Given the description of an element on the screen output the (x, y) to click on. 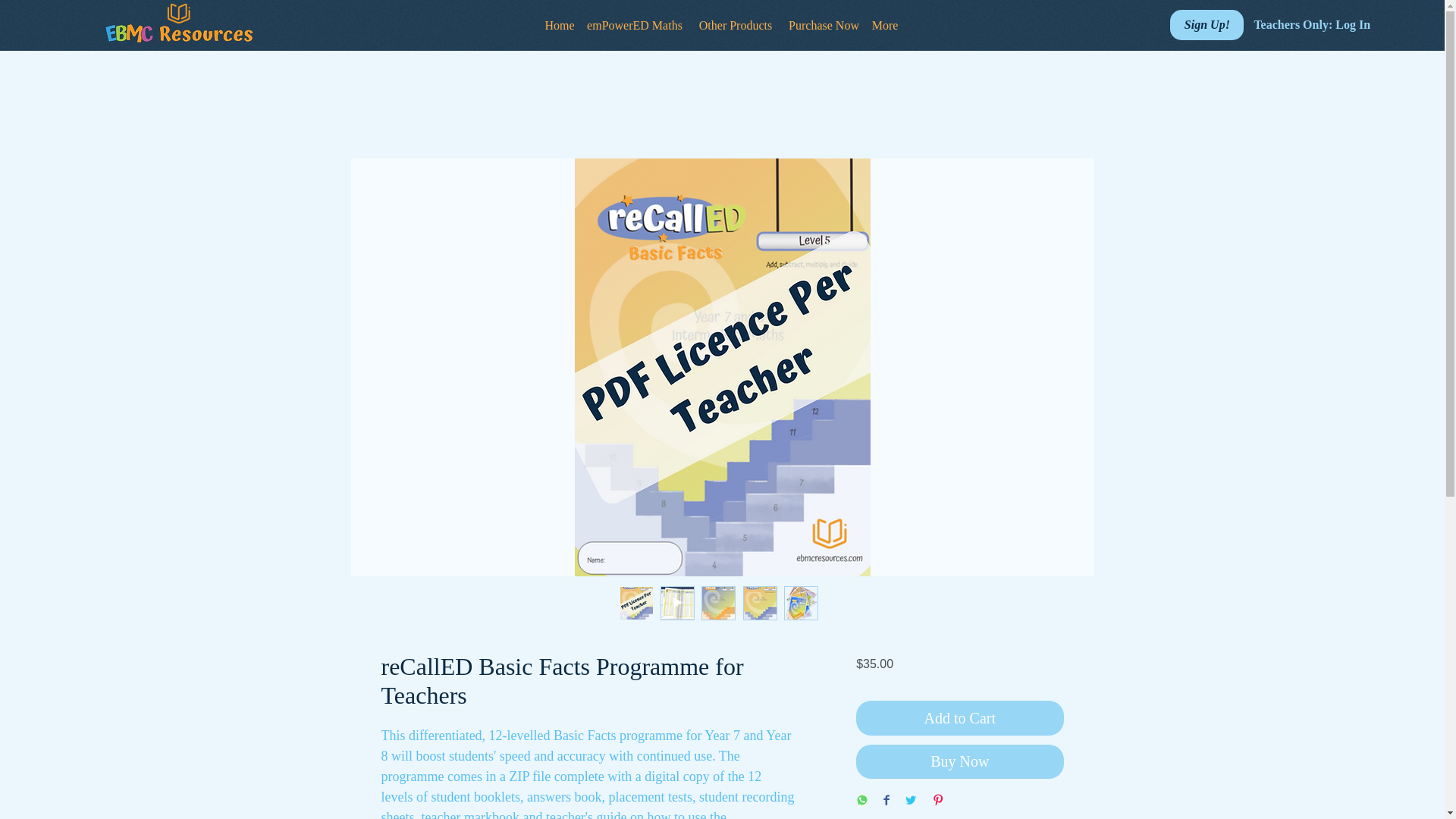
Teachers Only: Log In (1298, 24)
Sign Up! (1206, 24)
emPowerED Maths (634, 25)
Home (559, 25)
Add to Cart (959, 718)
Other Products (735, 25)
Purchase Now (824, 25)
Buy Now (959, 761)
